Given the description of an element on the screen output the (x, y) to click on. 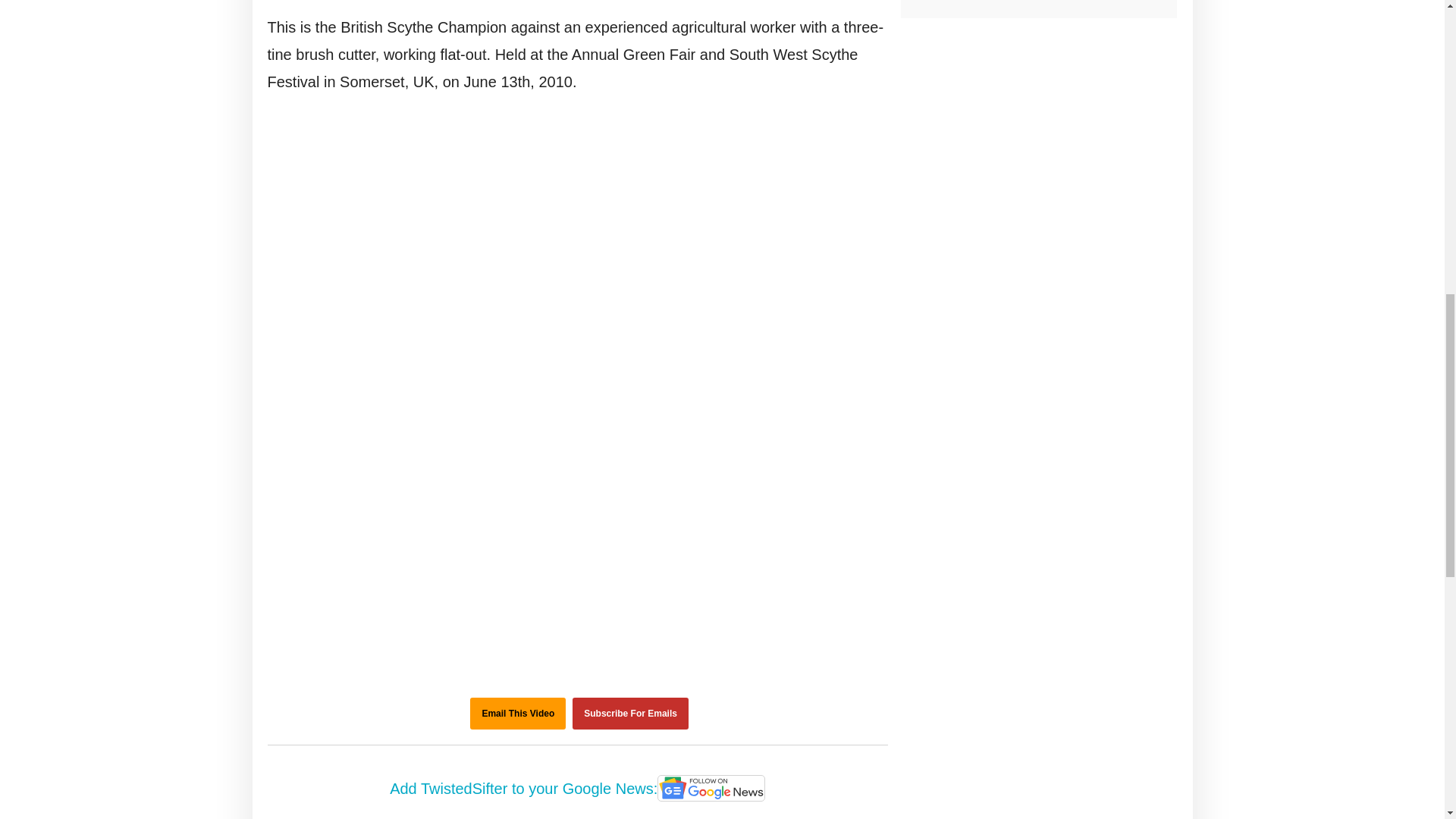
Subscribe For Emails (630, 713)
Google News (711, 788)
Add TwistedSifter to your Google News: (577, 789)
Email This Video (518, 713)
